Given the description of an element on the screen output the (x, y) to click on. 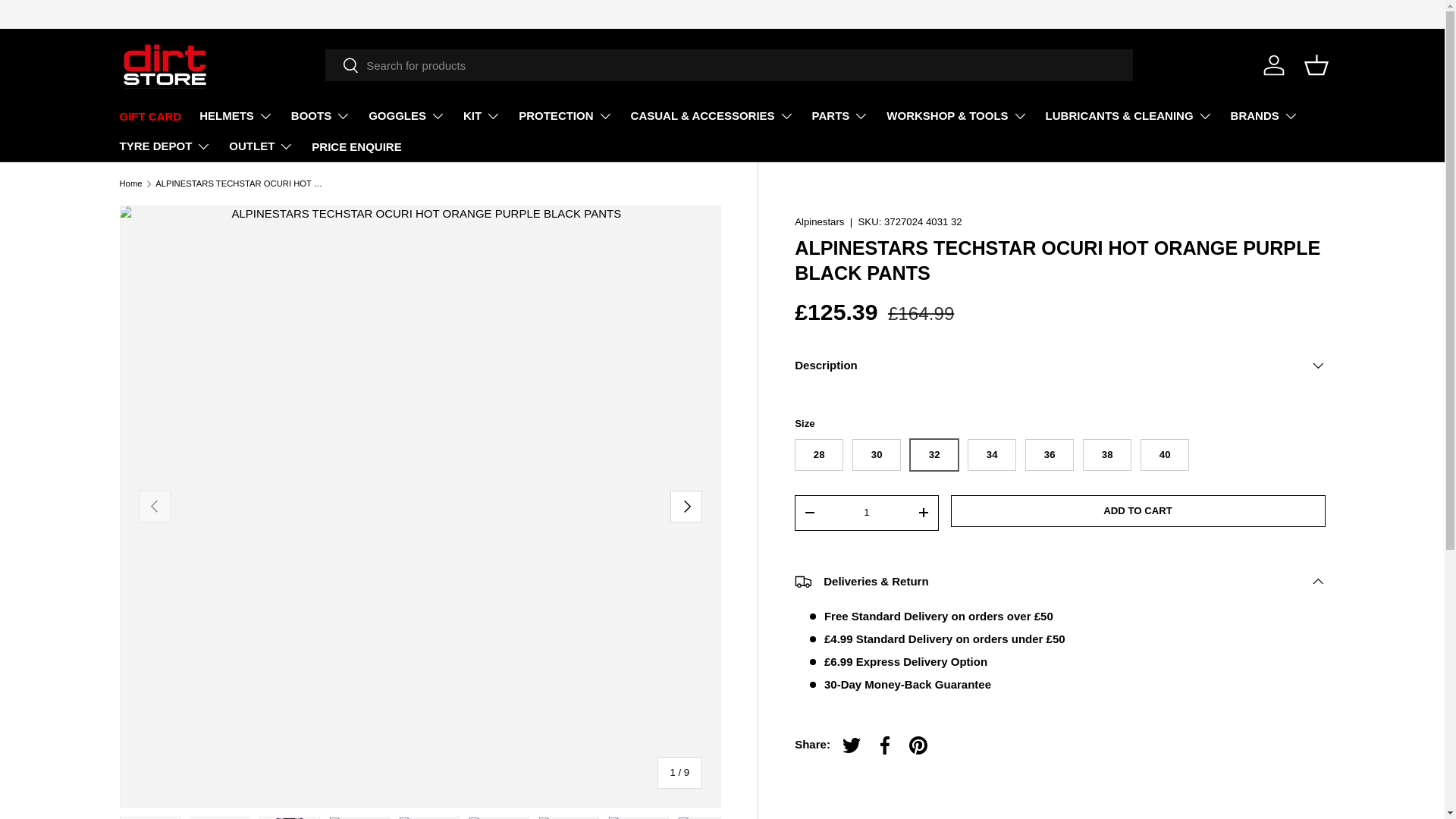
1 (866, 512)
GIFT CARD (150, 116)
Log in (1273, 64)
Search (341, 66)
BOOTS (320, 115)
SKIP TO CONTENT (68, 21)
Basket (1316, 64)
HELMETS (236, 115)
